Given the description of an element on the screen output the (x, y) to click on. 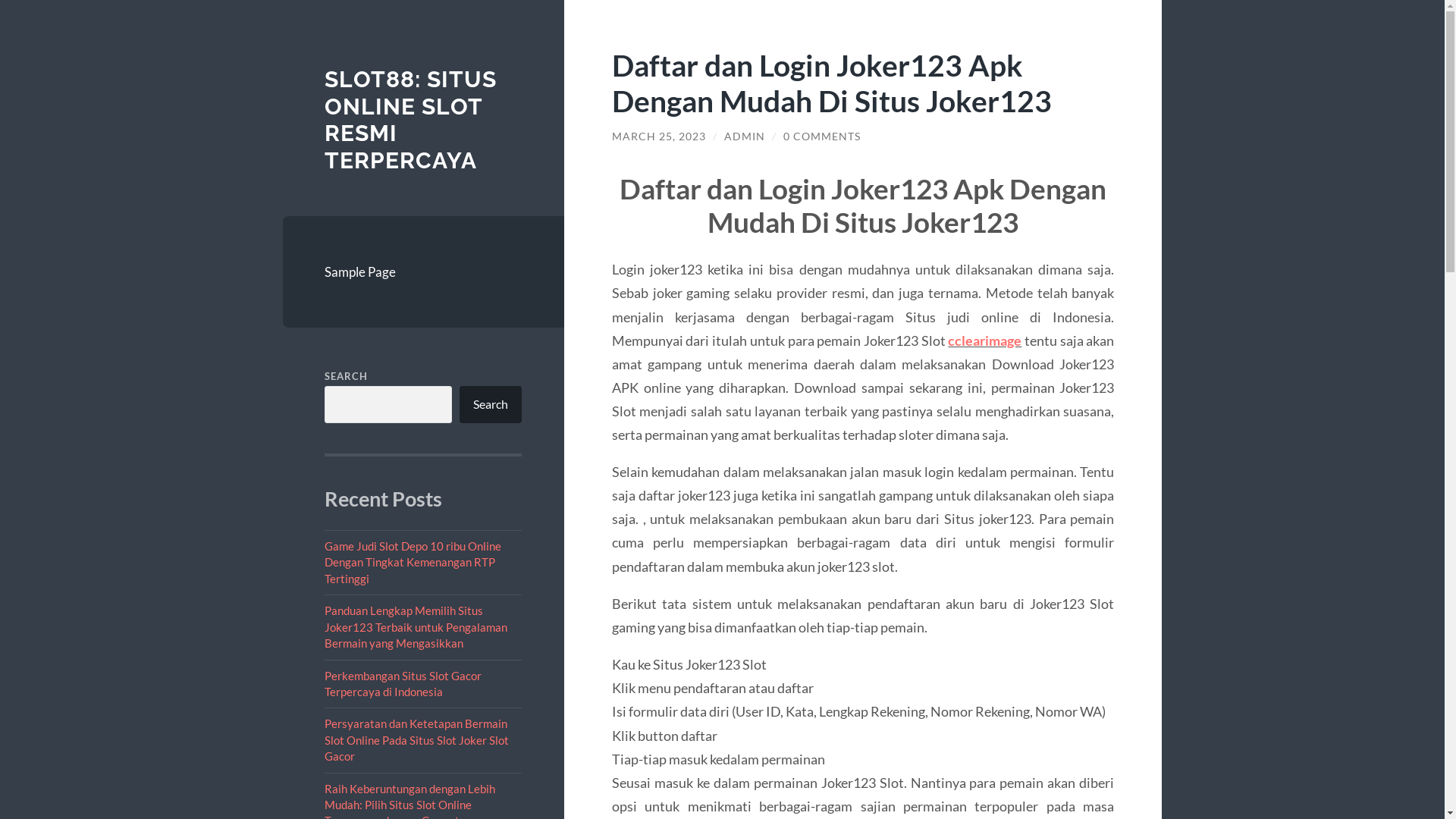
Search Element type: text (490, 404)
ADMIN Element type: text (744, 136)
cclearimage Element type: text (984, 340)
Perkembangan Situs Slot Gacor Terpercaya di Indonesia Element type: text (402, 683)
MARCH 25, 2023 Element type: text (658, 136)
SLOT88: SITUS ONLINE SLOT RESMI TERPERCAYA Element type: text (410, 119)
0 COMMENTS Element type: text (821, 136)
Sample Page Element type: text (422, 271)
